Given the description of an element on the screen output the (x, y) to click on. 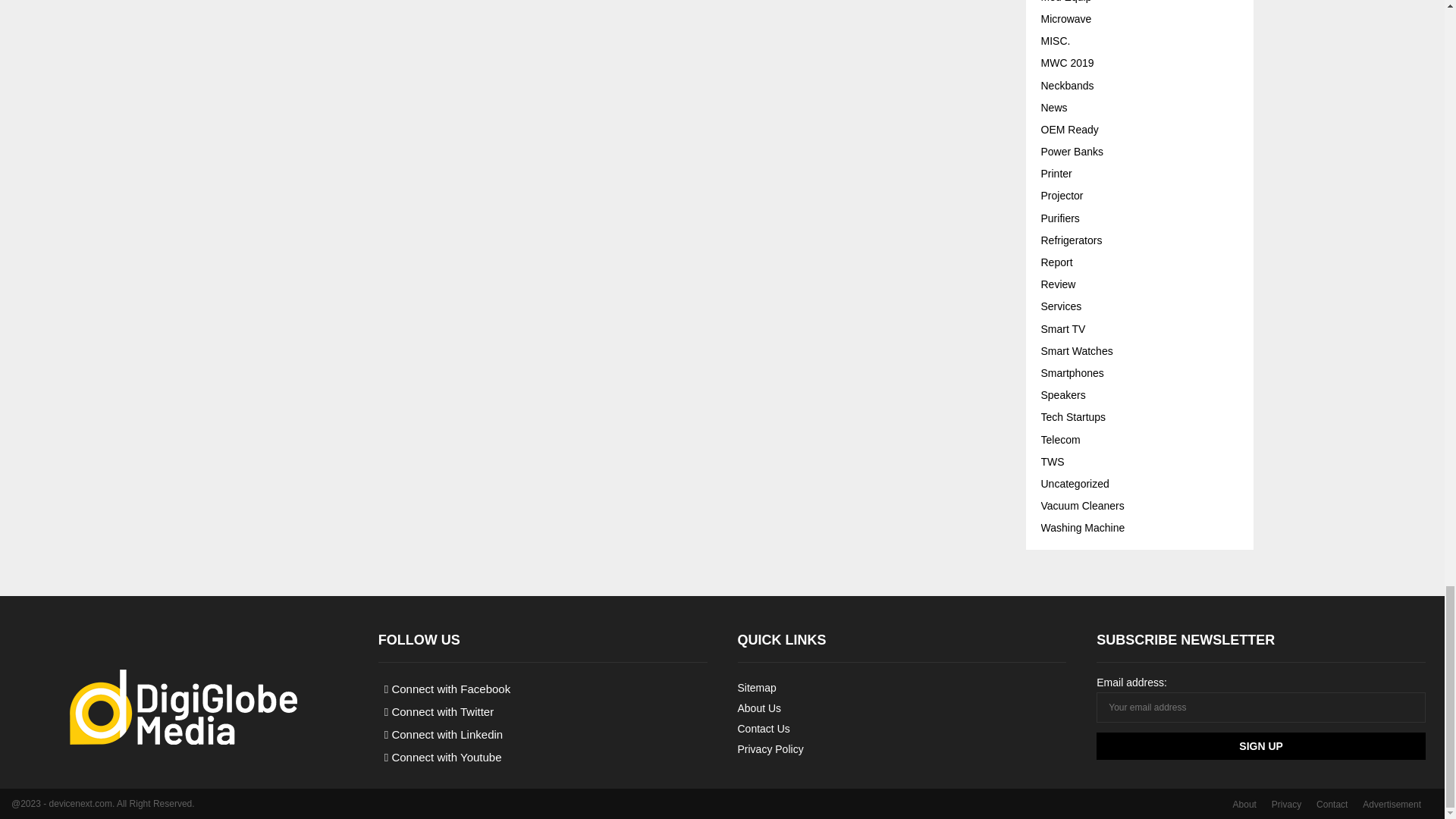
Sign up (1260, 746)
